Given the description of an element on the screen output the (x, y) to click on. 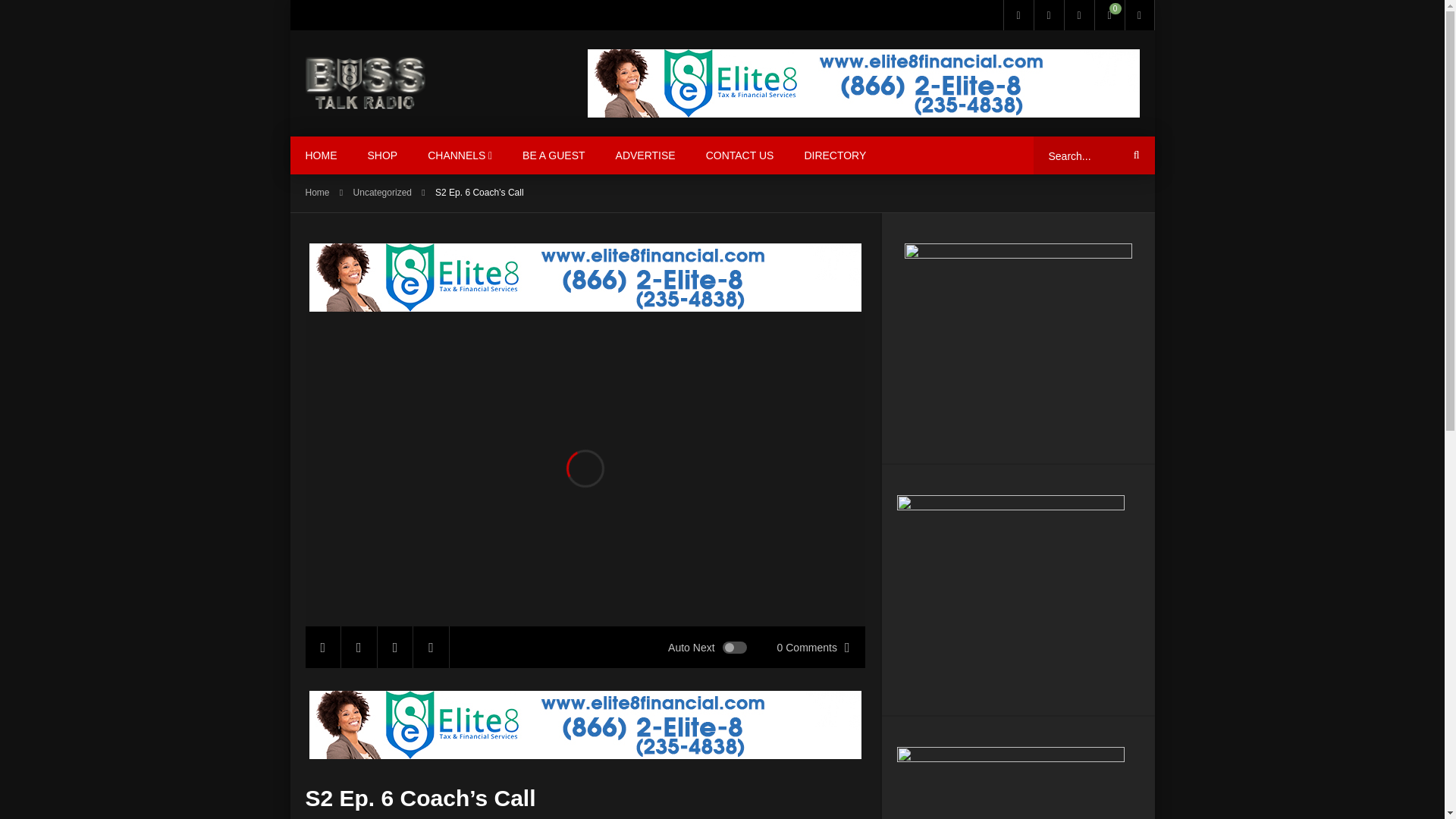
0 (1108, 15)
CONTACT US (739, 155)
CHANNELS (459, 155)
Youtube (1047, 15)
Boss Talk Radio (364, 82)
BE A GUEST (552, 155)
Uncategorized (382, 192)
ADVERTISE (644, 155)
Home (316, 192)
HOME (320, 155)
